Given the description of an element on the screen output the (x, y) to click on. 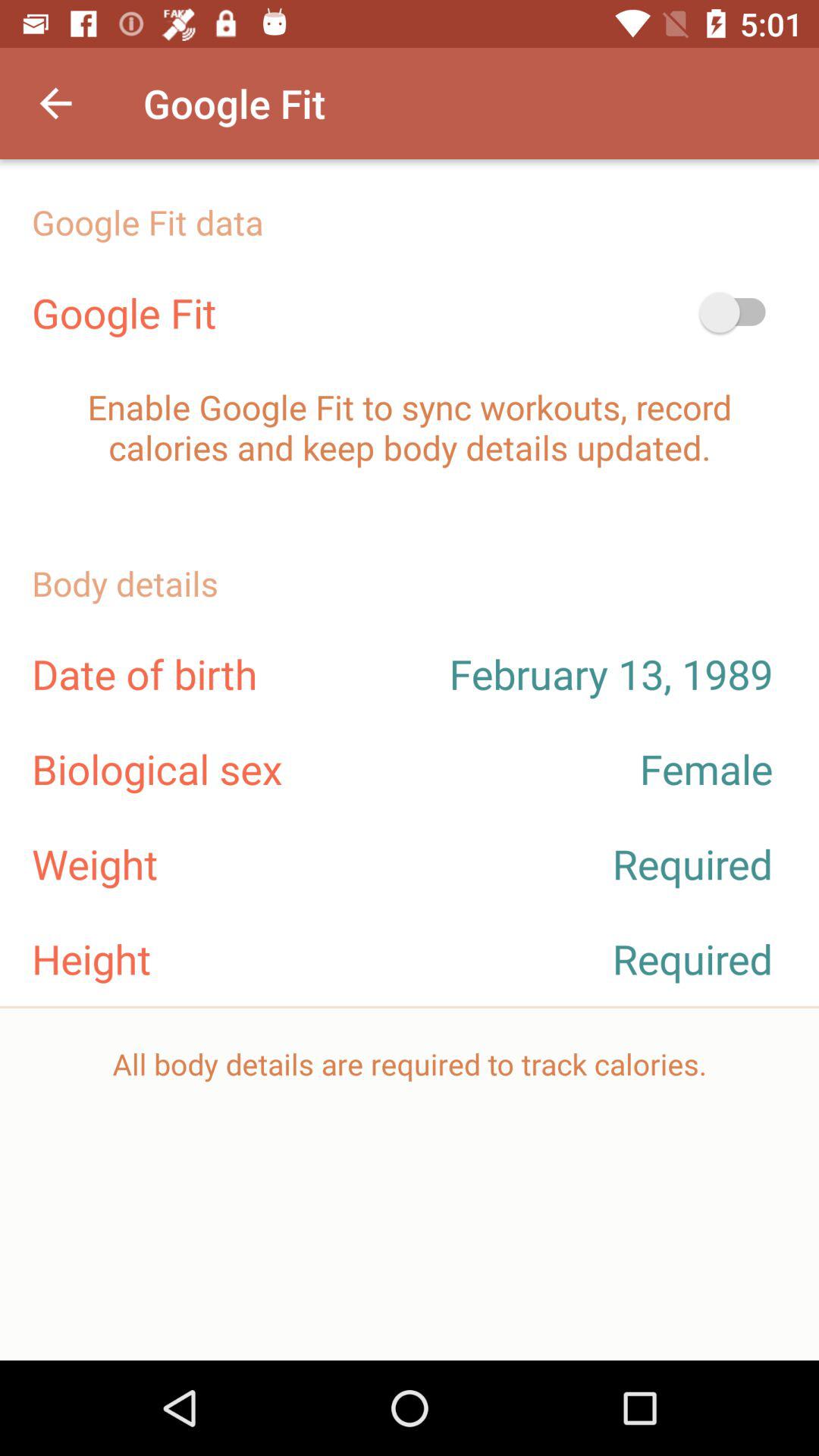
tap icon next to google fit (739, 312)
